Given the description of an element on the screen output the (x, y) to click on. 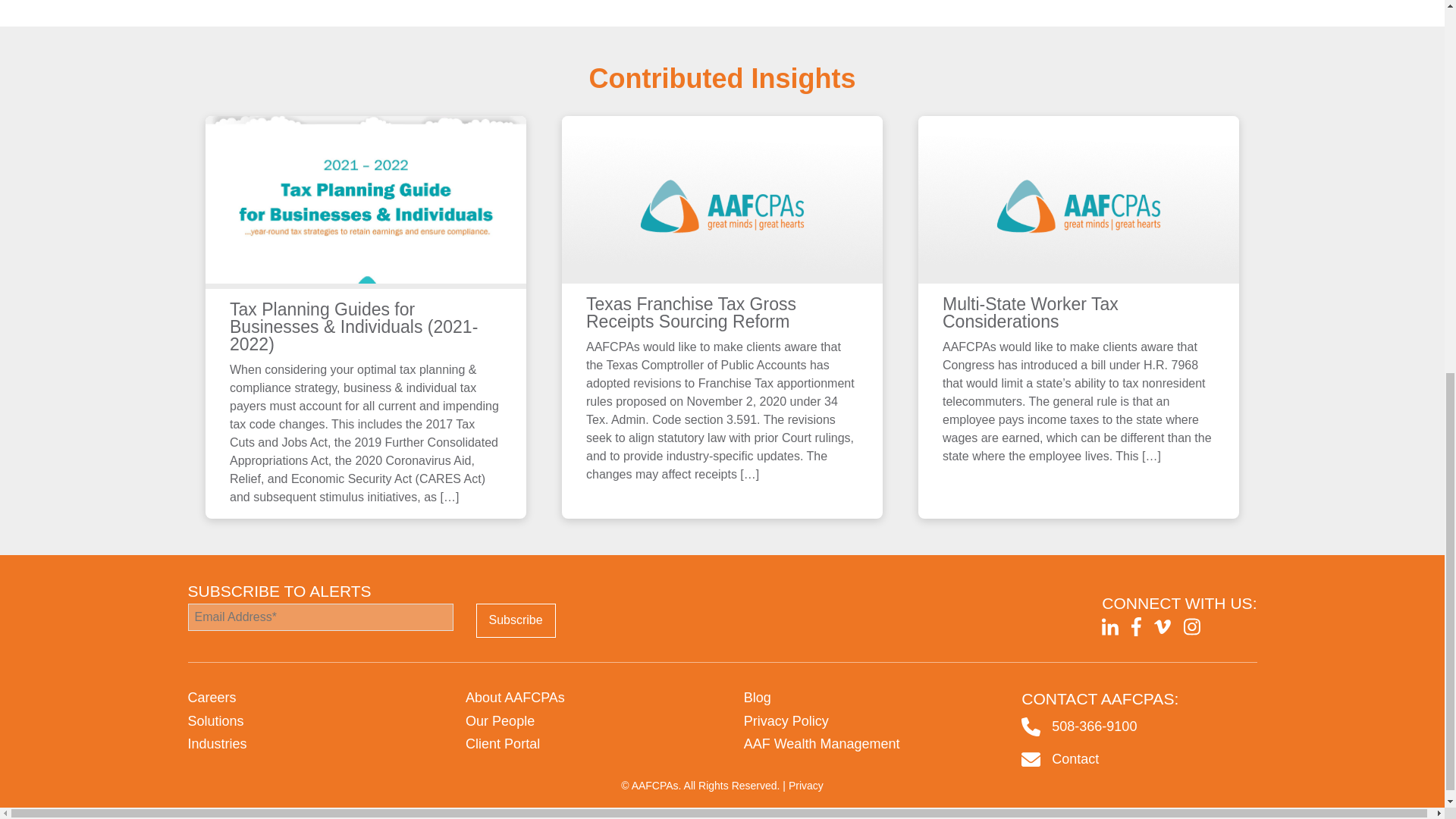
Subscribe (516, 620)
facebook (1136, 626)
instagram (1191, 626)
vimeo (1162, 626)
LinkedIn (1110, 626)
